Given the description of an element on the screen output the (x, y) to click on. 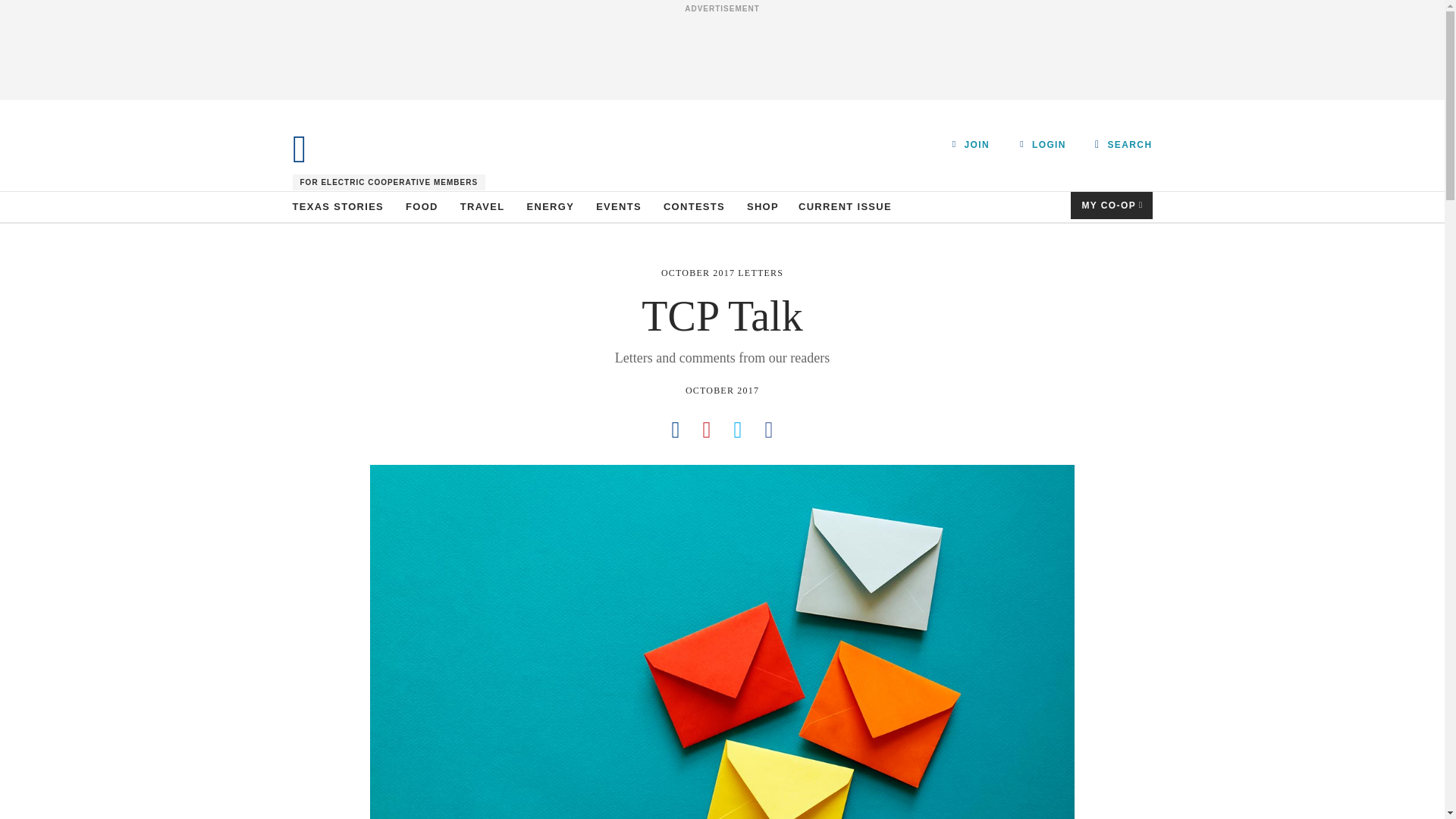
TEXAS STORIES (338, 206)
EVENTS (618, 206)
MY CO-OP (1111, 205)
CONTESTS (694, 206)
LOGIN (1042, 144)
JOIN (970, 144)
FOOD (422, 206)
TRAVEL (482, 206)
CURRENT ISSUE (844, 206)
ENERGY (551, 206)
SHOP (762, 206)
